Given the description of an element on the screen output the (x, y) to click on. 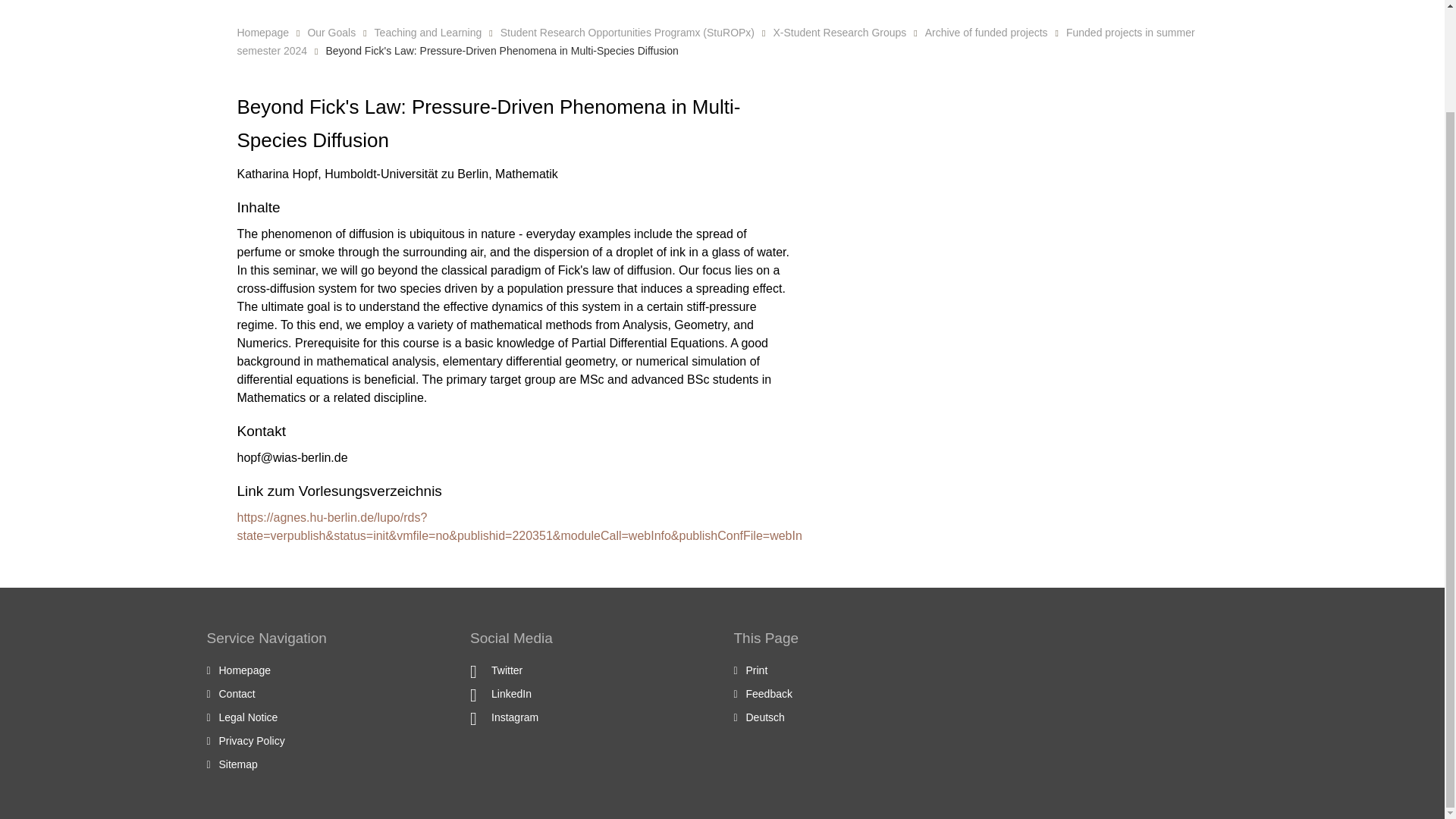
Privacy Policy (250, 740)
To the Homepage of: Berlin University Alliance (244, 670)
Print this page (756, 670)
